Given the description of an element on the screen output the (x, y) to click on. 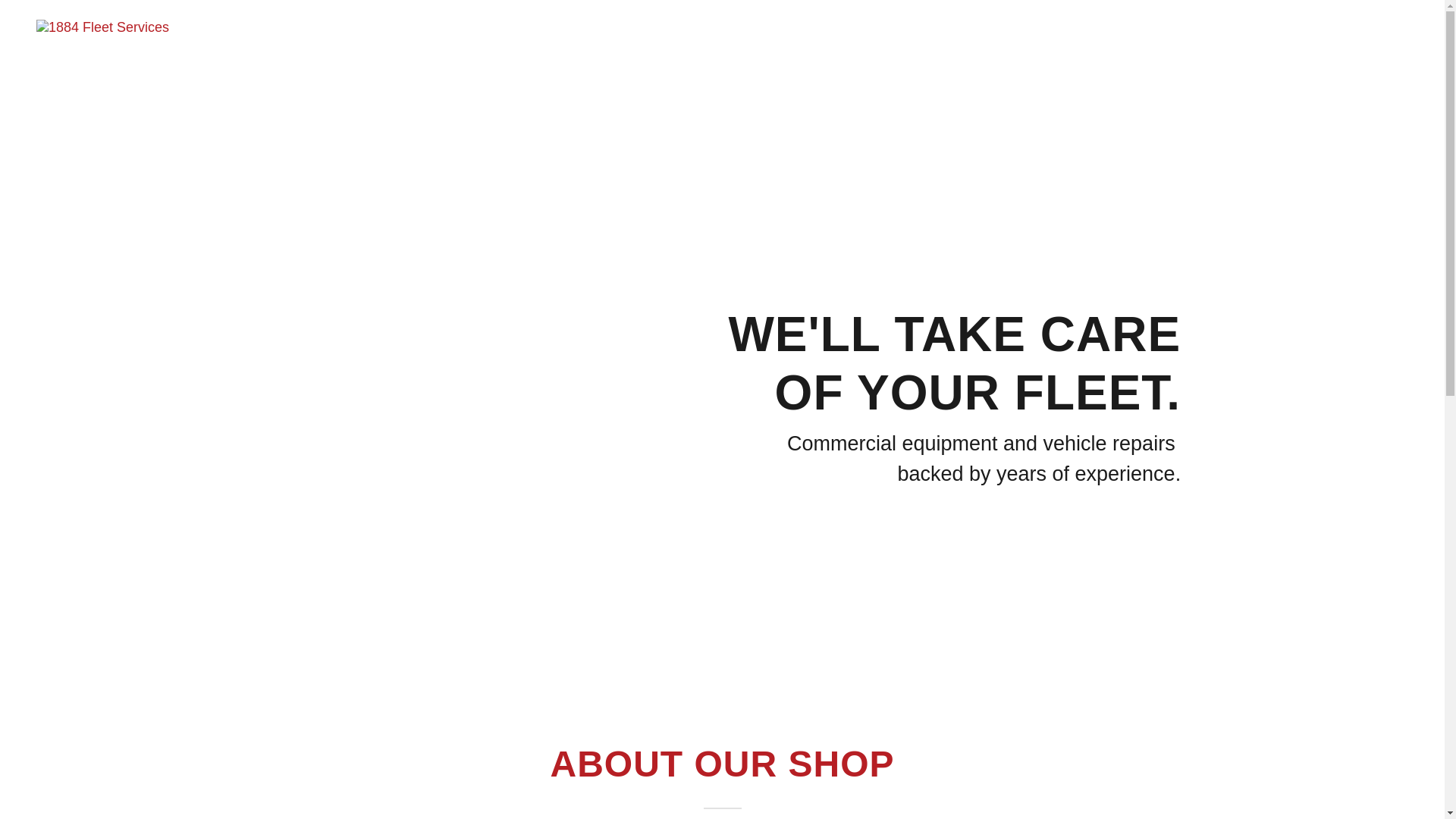
1884 Fleet Services Element type: hover (102, 26)
